Given the description of an element on the screen output the (x, y) to click on. 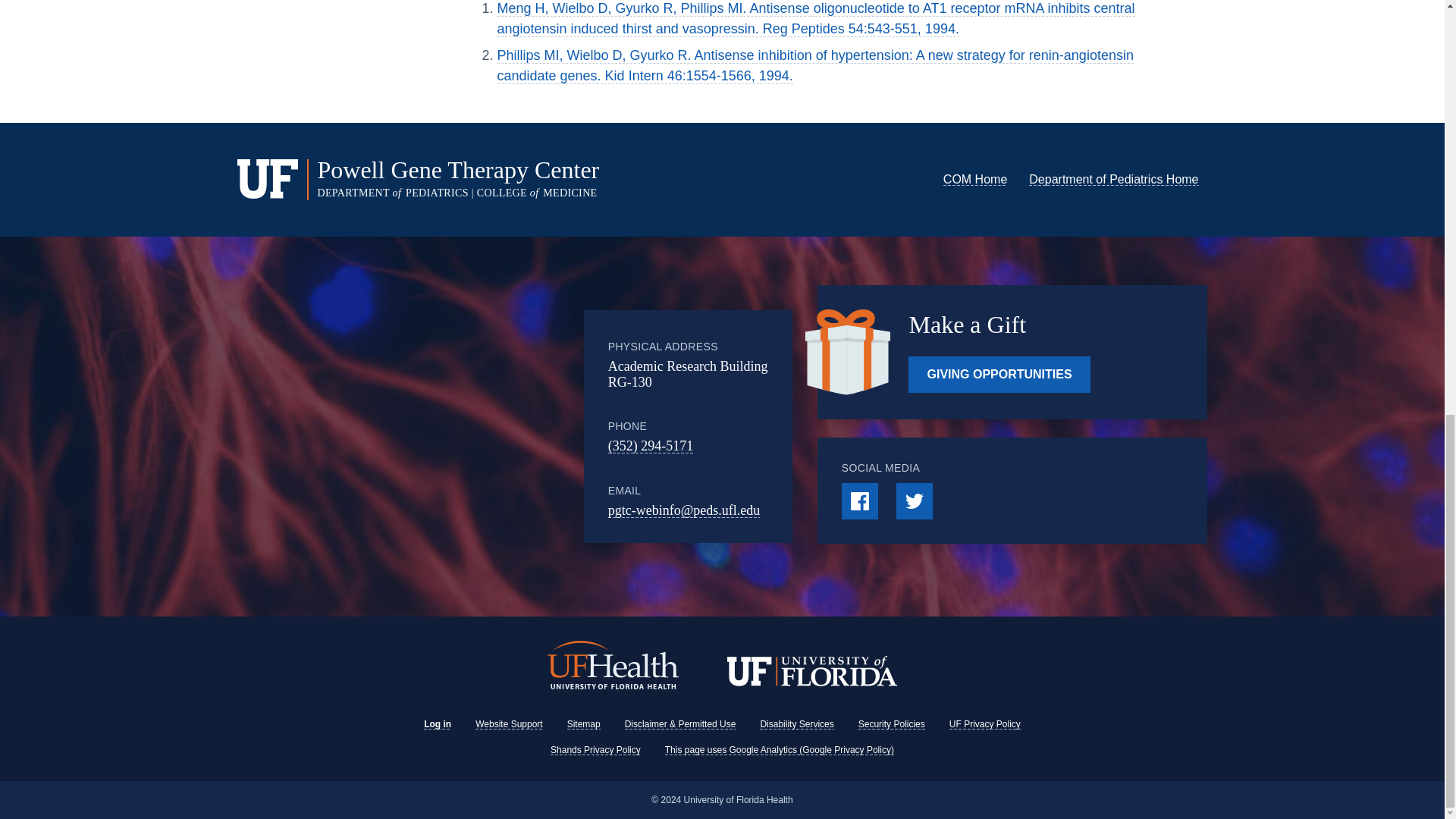
Google Maps Embed (459, 425)
UF Privacy Policy (984, 724)
Security Policies (891, 724)
Disability Services (796, 724)
Website Support (509, 724)
COM Home (975, 178)
Shands Privacy Policy (595, 749)
Log in (437, 724)
Department of Pediatrics Home (1113, 178)
Sitemap (583, 724)
